Given the description of an element on the screen output the (x, y) to click on. 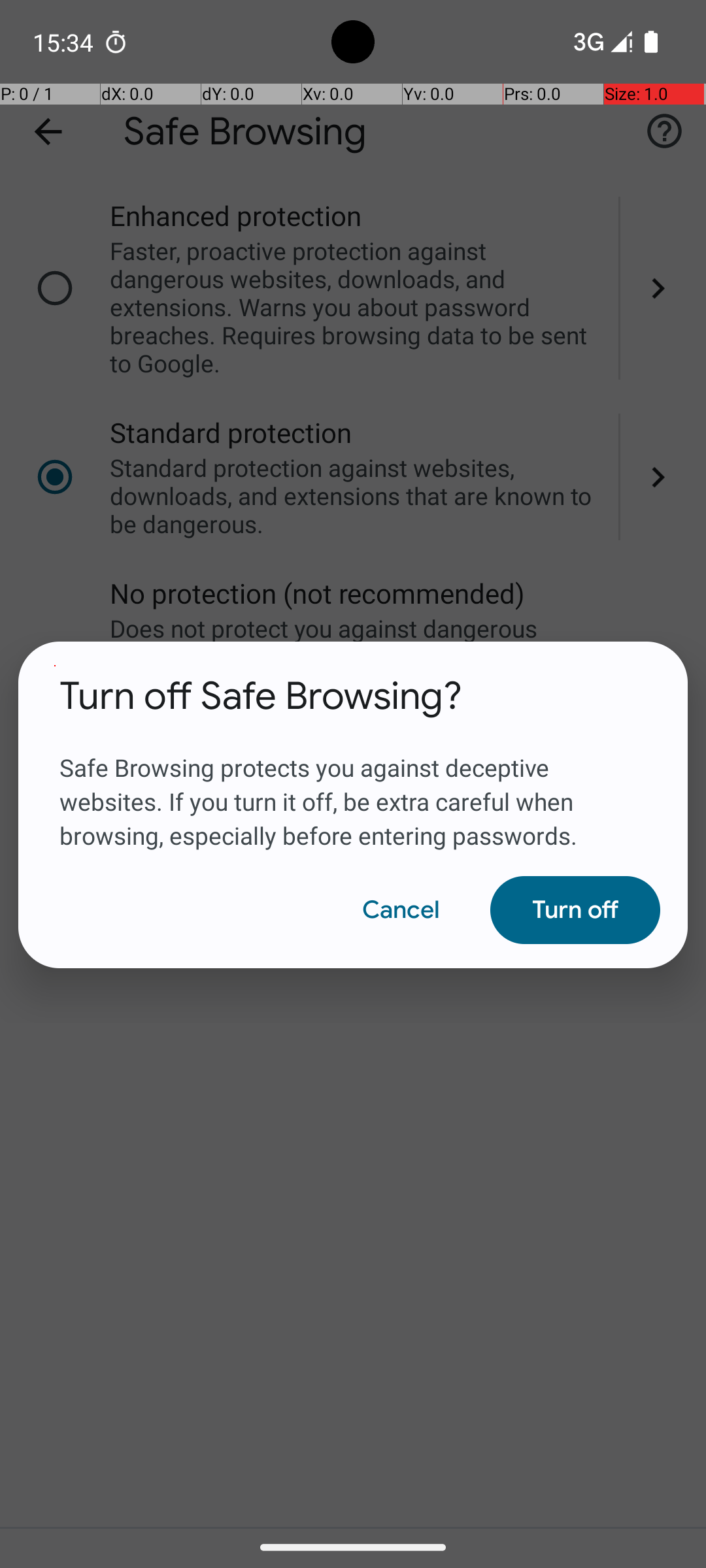
Turn off Safe Browsing? Element type: android.widget.TextView (260, 695)
Safe Browsing protects you against deceptive websites. If you turn it off, be extra careful when browsing, especially before entering passwords. Element type: android.widget.TextView (352, 785)
Turn off Element type: android.widget.Button (575, 909)
